Given the description of an element on the screen output the (x, y) to click on. 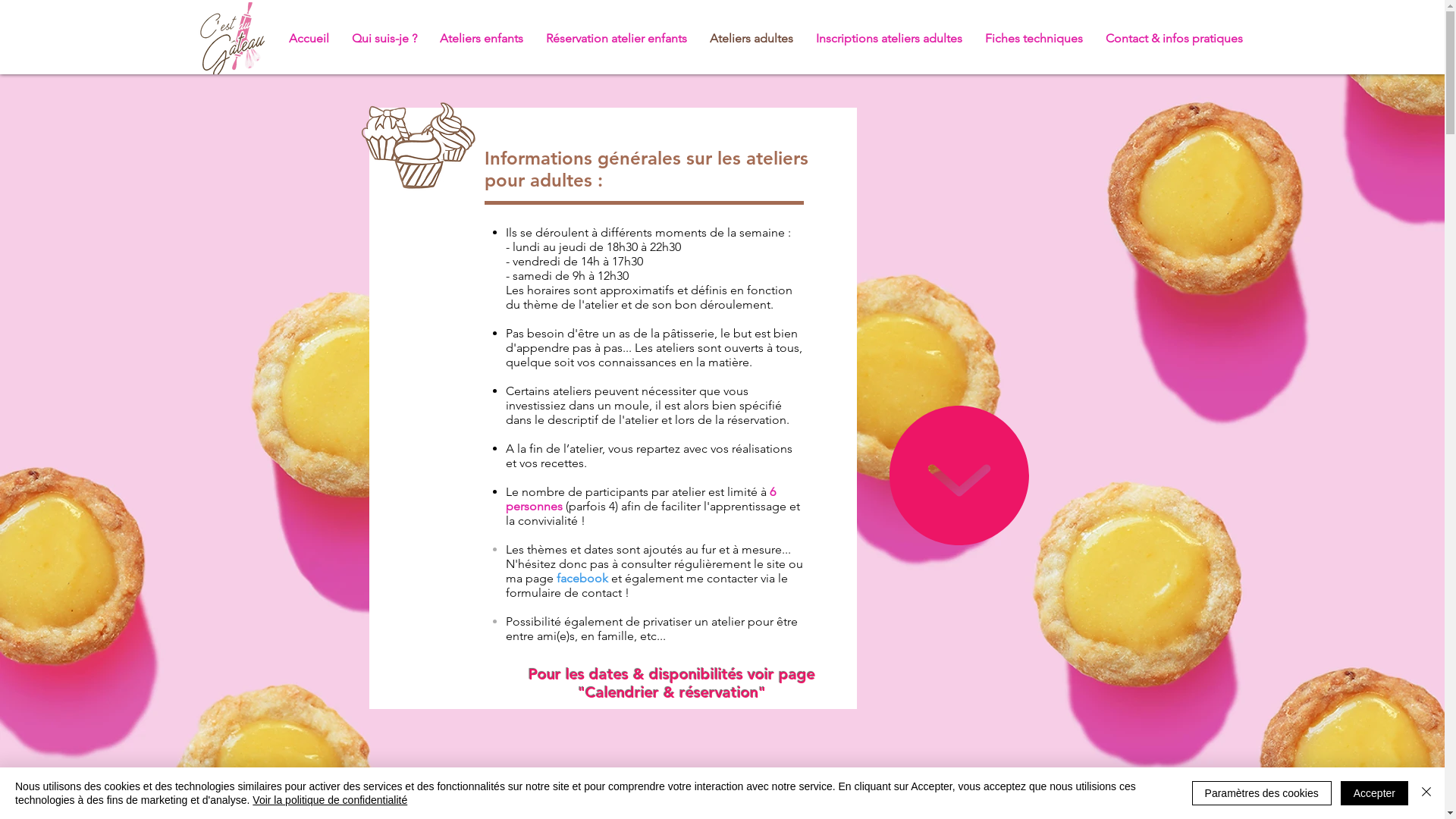
Accepter Element type: text (1374, 793)
Qui suis-je ? Element type: text (383, 38)
Contact & infos pratiques Element type: text (1173, 38)
Inscriptions ateliers adultes Element type: text (887, 38)
Accueil Element type: text (308, 38)
Ateliers adultes Element type: text (750, 38)
Fiches techniques Element type: text (1033, 38)
Ateliers enfants Element type: text (480, 38)
